Given the description of an element on the screen output the (x, y) to click on. 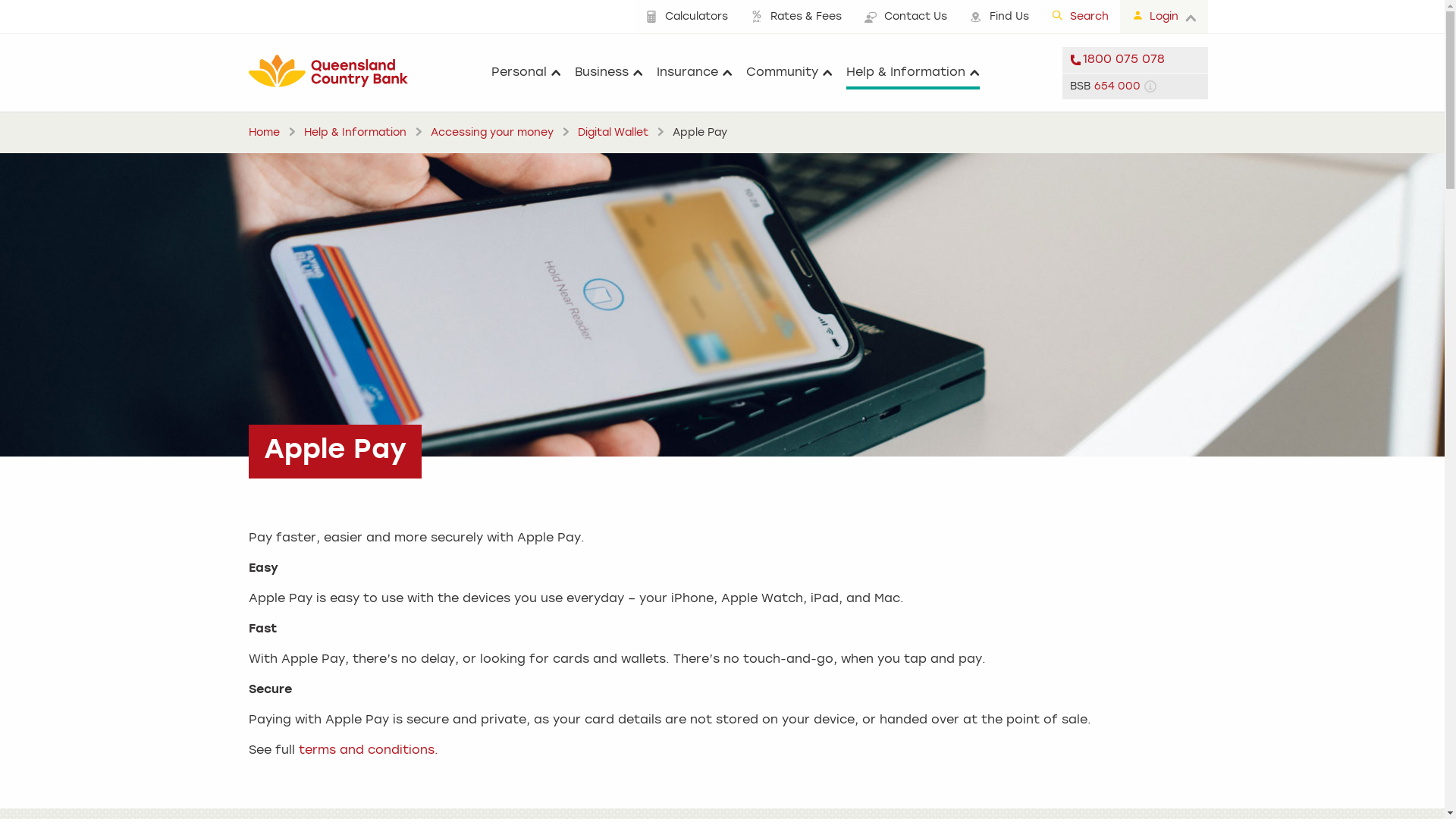
Help & Information Element type: text (355, 132)
Accessing your money Element type: text (491, 132)
terms and conditions. Element type: text (368, 750)
Help & Information Element type: text (912, 72)
Find Us Element type: text (999, 16)
Digital Wallet Element type: text (612, 132)
Login Element type: text (1163, 16)
Insurance Element type: text (694, 72)
1800 075 078 Element type: text (1134, 59)
Community Element type: text (789, 72)
Rates & Fees Element type: text (795, 16)
Calculators Element type: text (686, 16)
Contact Us Element type: text (904, 16)
Business Element type: text (608, 72)
BSB
654 000 Element type: text (1134, 85)
Search Element type: text (1080, 16)
Home Element type: text (263, 132)
Personal Element type: text (526, 72)
